Given the description of an element on the screen output the (x, y) to click on. 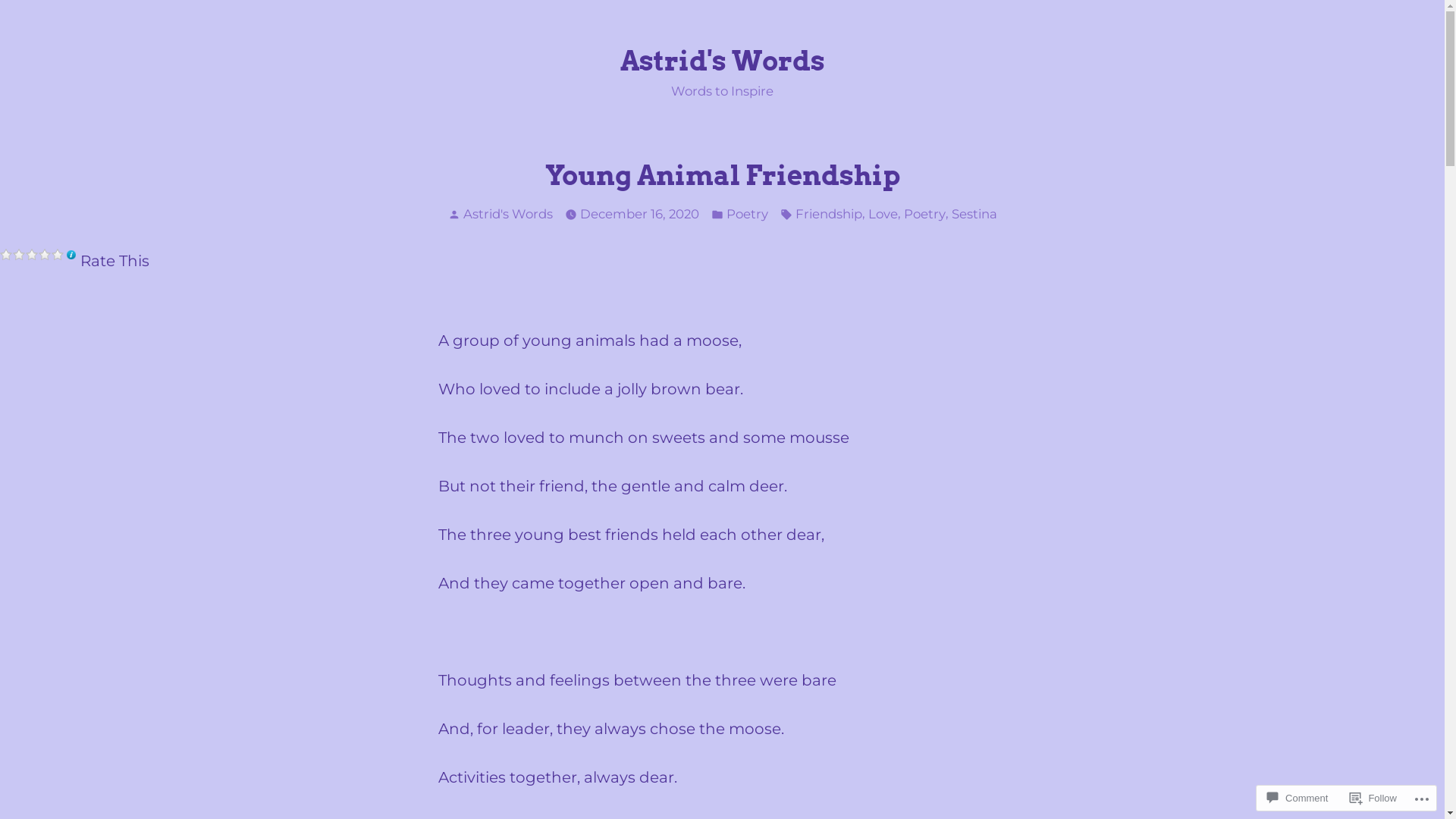
Astrid's Words Element type: text (722, 61)
Love Element type: text (882, 213)
Friendship Element type: text (827, 213)
Astrid's Words Element type: text (507, 213)
December 16, 2020 Element type: text (638, 213)
Poetry Element type: text (924, 213)
Comment Element type: text (1297, 797)
Follow Element type: text (1372, 797)
Poetry Element type: text (747, 213)
Sestina Element type: text (973, 213)
